Given the description of an element on the screen output the (x, y) to click on. 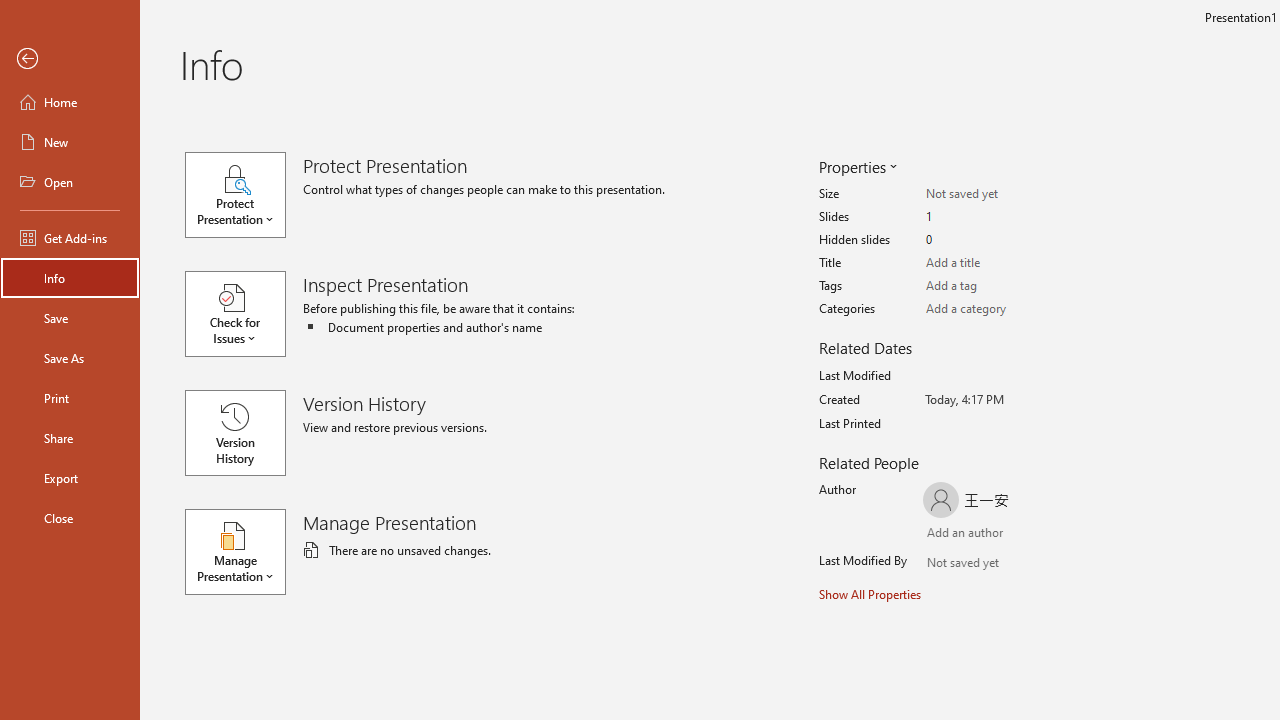
Tags (1003, 286)
Protect Presentation (244, 194)
